Given the description of an element on the screen output the (x, y) to click on. 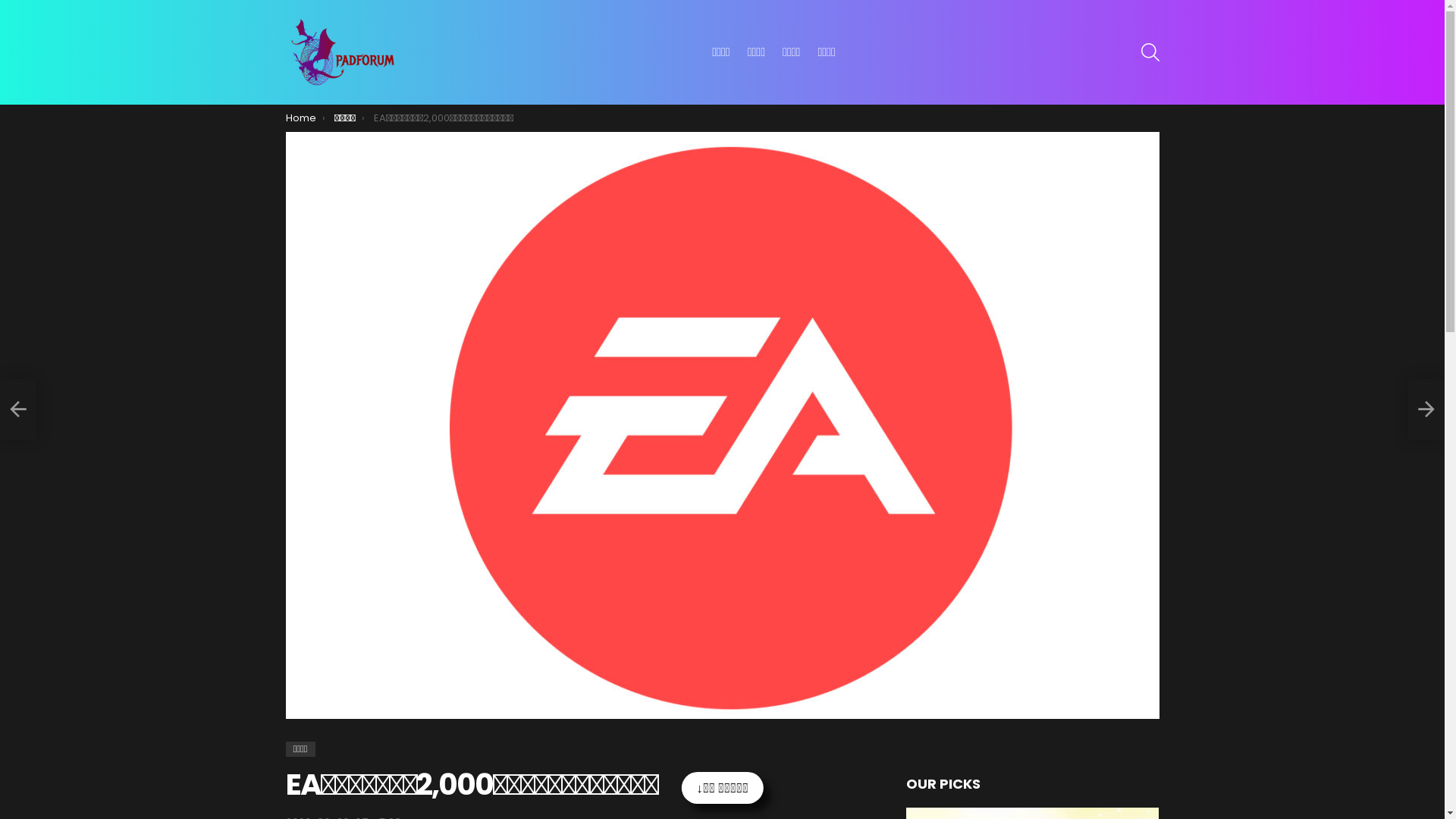
Home Element type: text (300, 117)
SEARCH Element type: text (1149, 52)
